Given the description of an element on the screen output the (x, y) to click on. 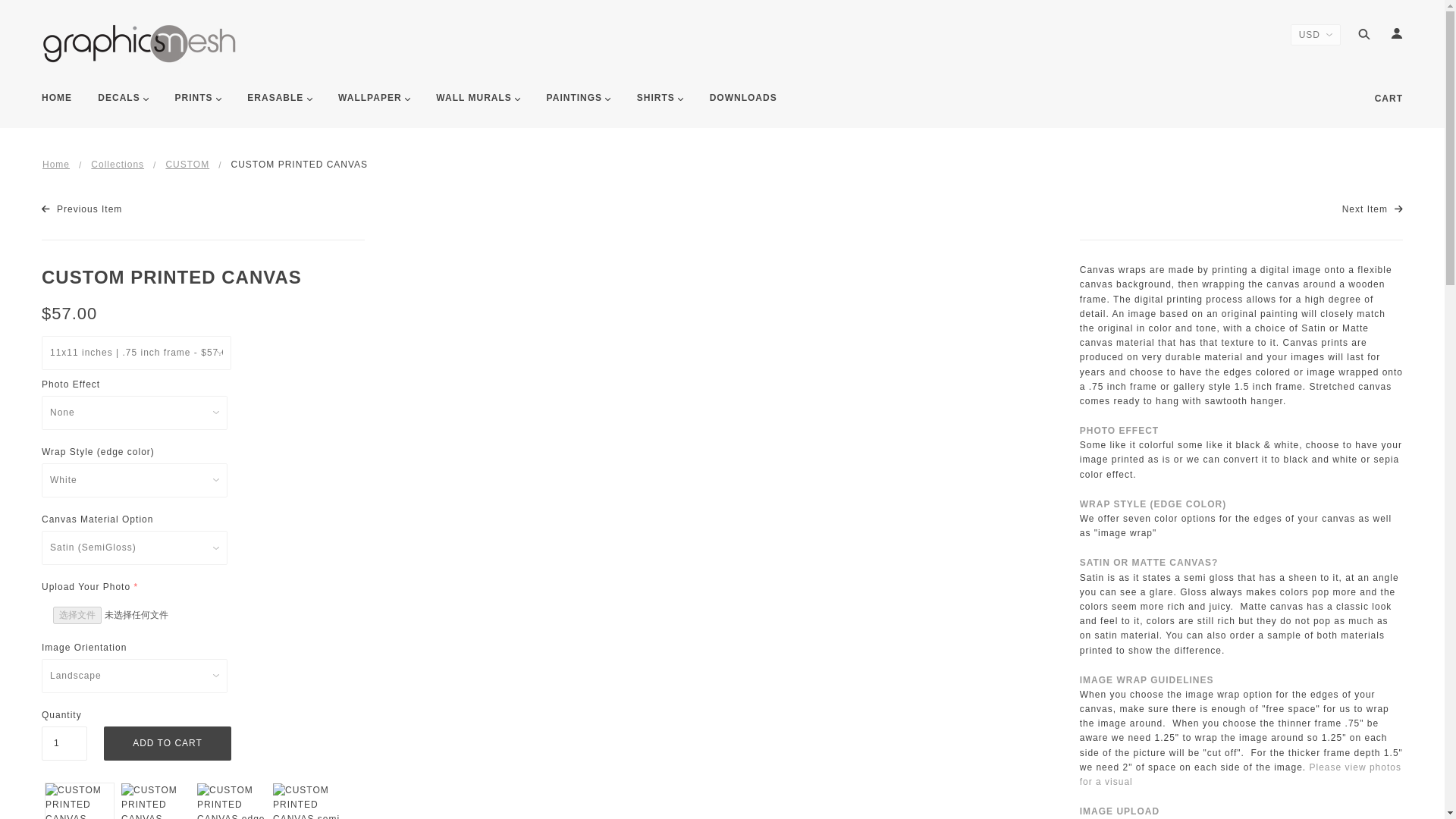
1 (64, 743)
GraphicsMesh (140, 43)
Add to Cart (167, 743)
CUSTOM PROJECT FORM - FREE ESTIMATE (82, 209)
Custom listing for Jordan G - 2 logos 10x22 inch (1372, 209)
